Given the description of an element on the screen output the (x, y) to click on. 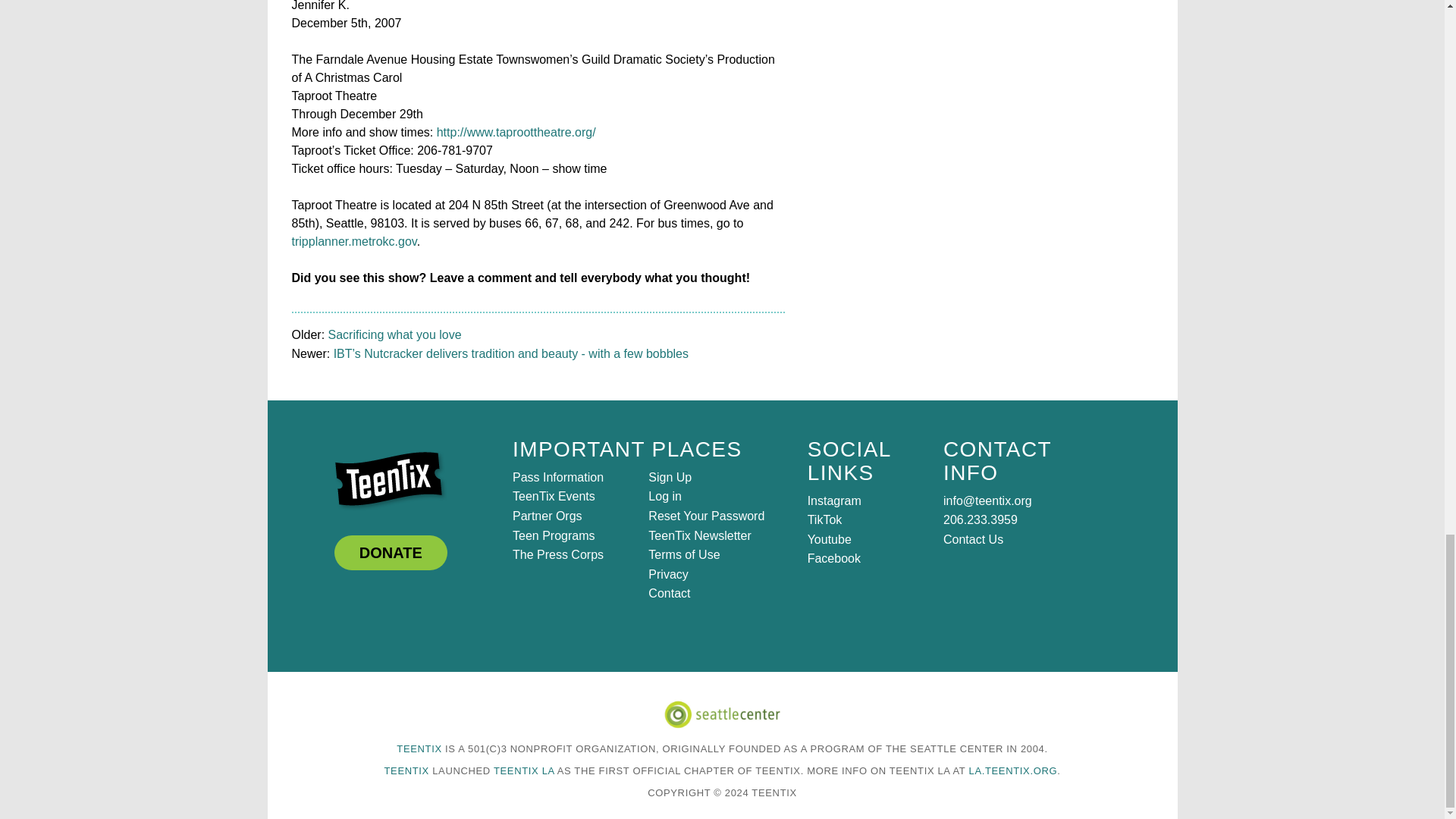
tripplanner.metrokc.gov (353, 241)
Sacrificing what you love (395, 334)
